Given the description of an element on the screen output the (x, y) to click on. 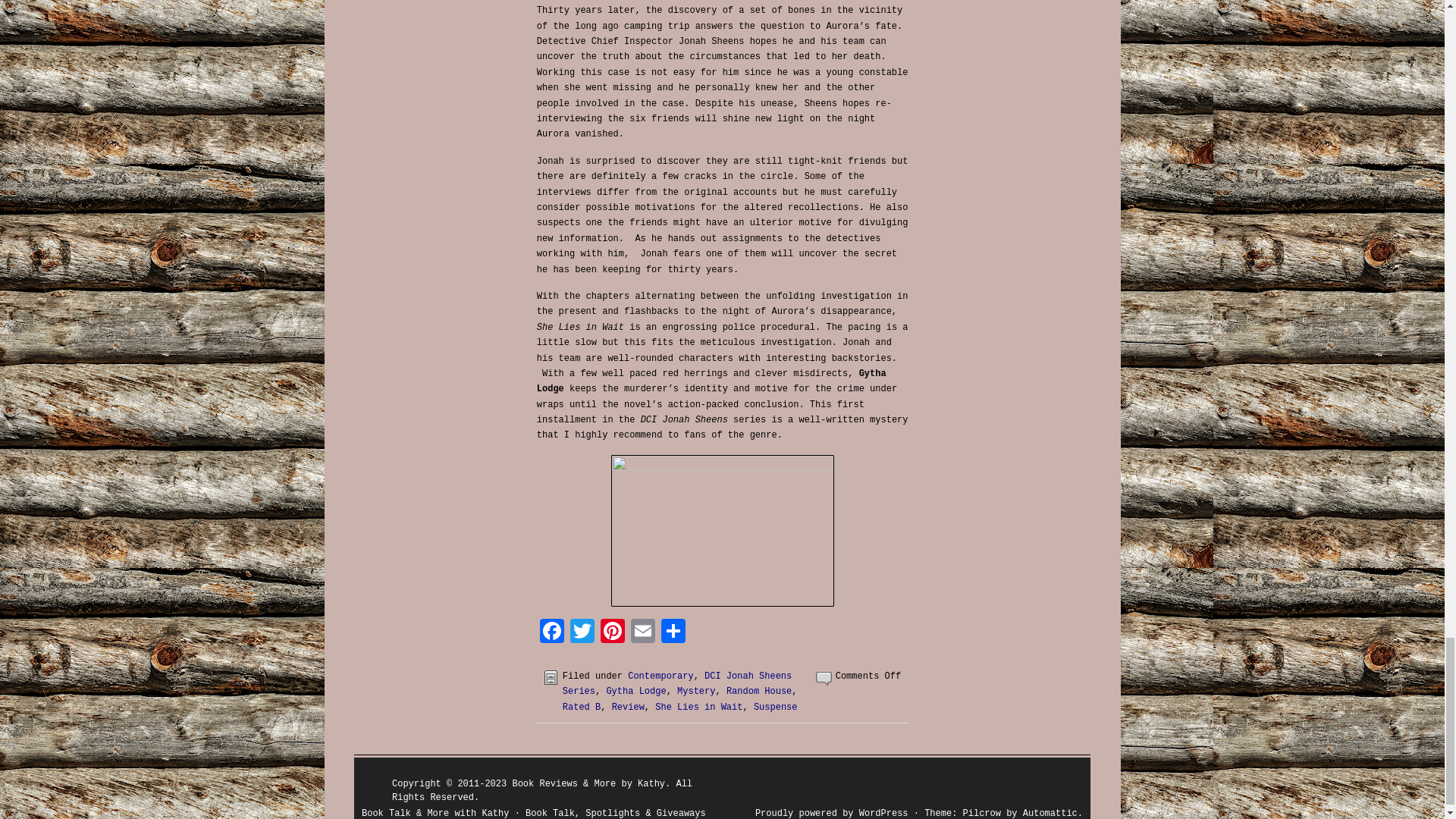
Mystery (695, 691)
Email (642, 634)
Rated B (580, 706)
Pinterest (611, 634)
She Lies in Wait (698, 706)
Twitter (581, 634)
Gytha Lodge (635, 691)
Random House (759, 691)
Contemporary (660, 675)
Facebook (552, 634)
